Given the description of an element on the screen output the (x, y) to click on. 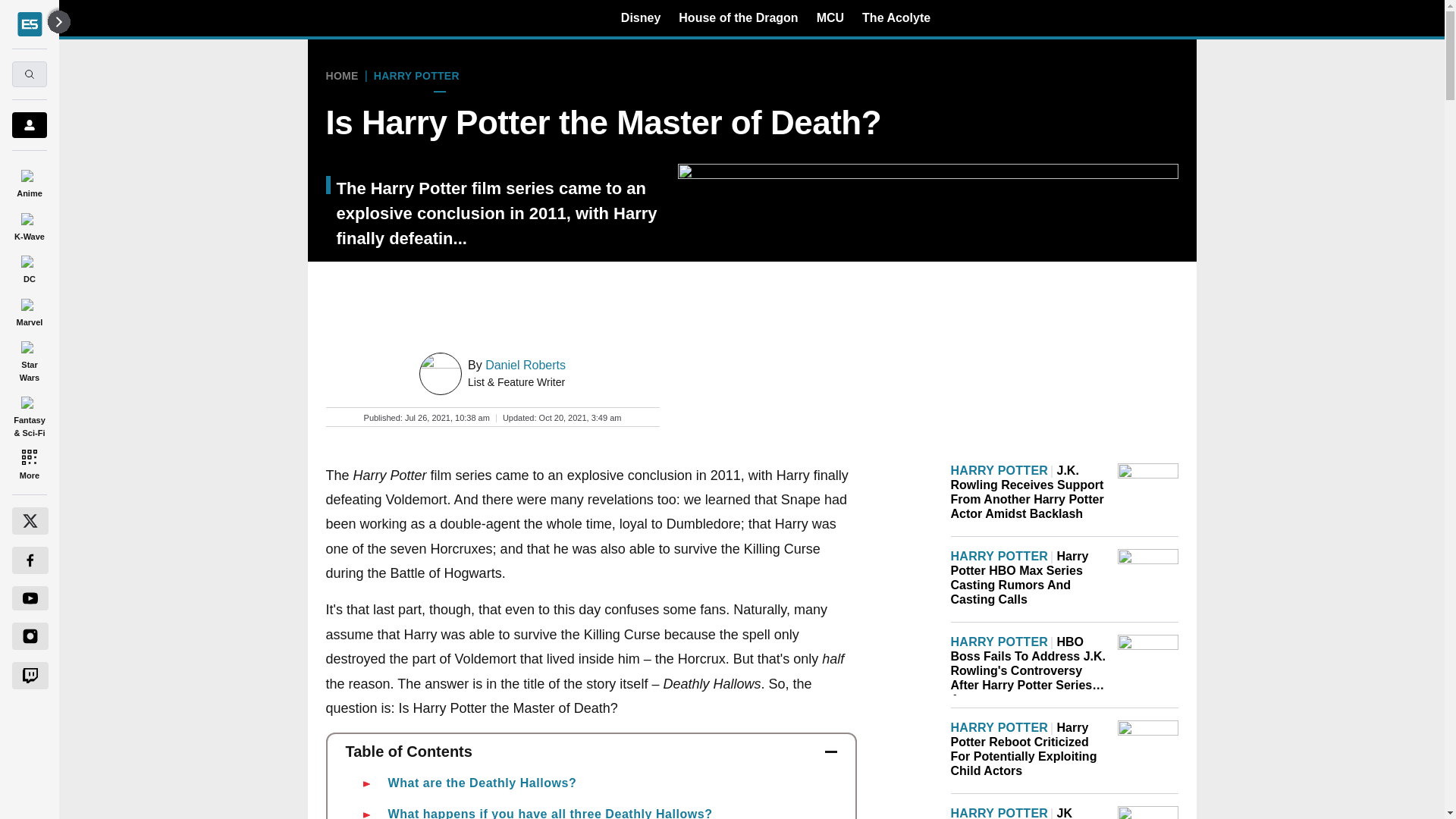
More (28, 463)
Anime (28, 180)
K-Wave (28, 224)
Marvel (28, 309)
The Acolyte (895, 18)
DC (28, 266)
Disney (641, 18)
House of the Dragon (737, 18)
MCU (830, 18)
